Given the description of an element on the screen output the (x, y) to click on. 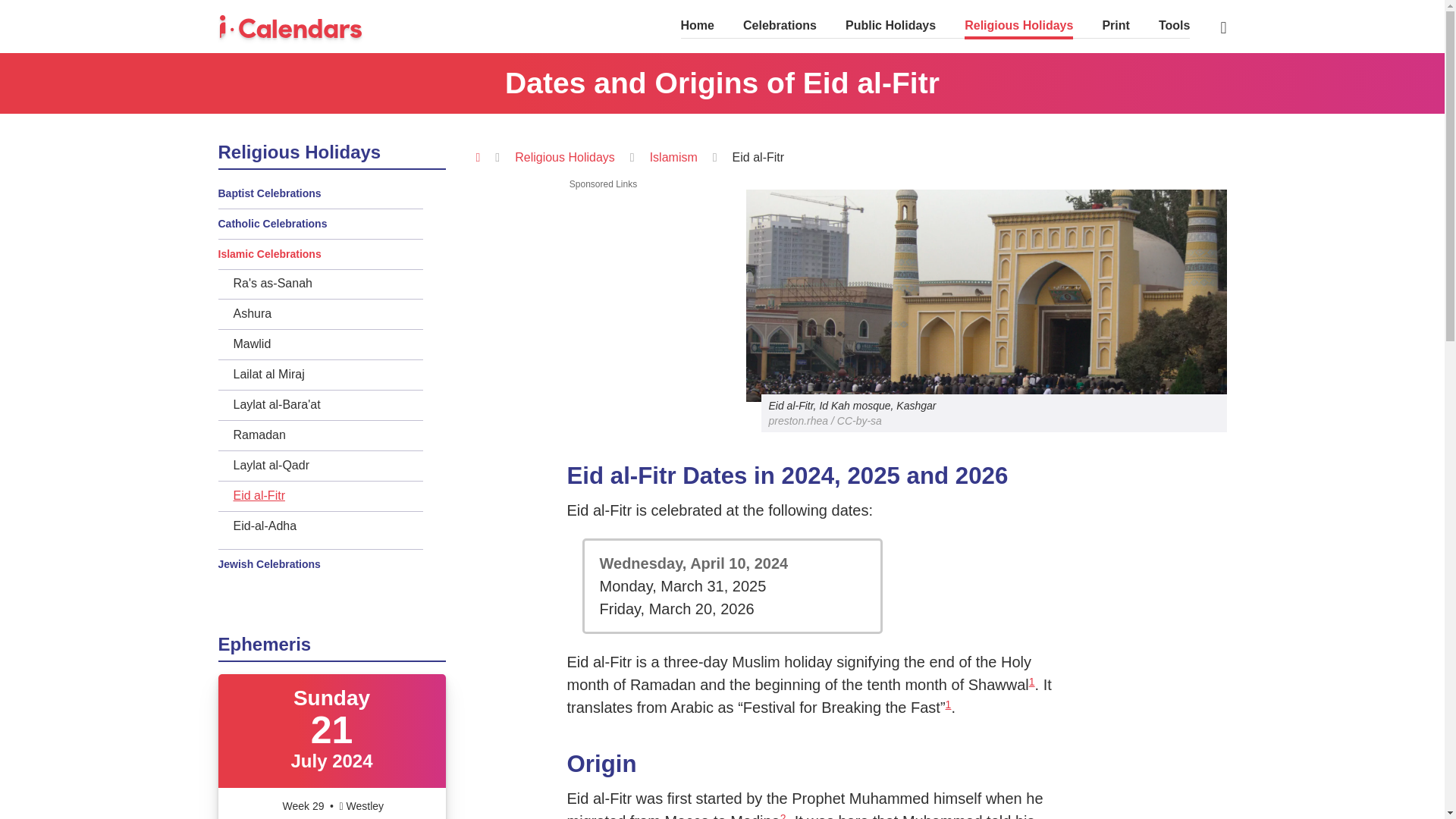
Tools (1173, 27)
Islamism (673, 156)
Catholic Celebrations (320, 223)
Home (697, 27)
Mawlid (327, 343)
Advertisement (603, 295)
Public Holidays (890, 27)
Baptist Celebrations (320, 193)
Islamic Celebrations (320, 254)
Religious Holidays (1018, 27)
Print (1115, 27)
Ashura (327, 313)
Celebrations (779, 27)
Religious Holidays (564, 156)
Ra's as-Sanah (327, 283)
